Given the description of an element on the screen output the (x, y) to click on. 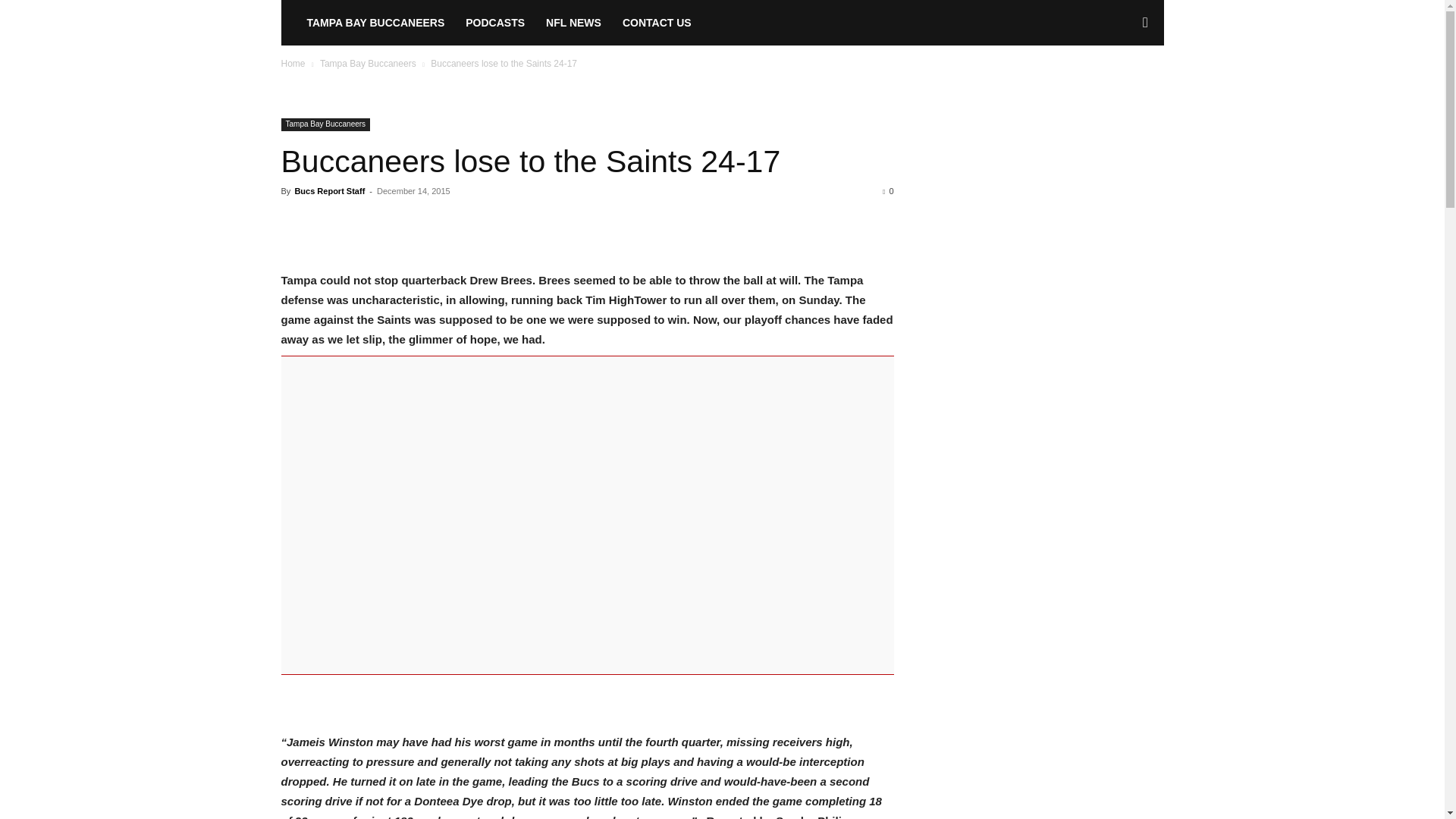
Tampa Bay Buccaneers (325, 124)
Home (292, 63)
NFL NEWS (573, 22)
TAMPA BAY BUCCANEERS (374, 22)
Tampa Bay Buccaneers (368, 63)
PODCASTS (494, 22)
Bucs Report Staff (329, 190)
CONTACT US (656, 22)
Search (1121, 87)
Bucs Report (288, 22)
View all posts in Tampa Bay Buccaneers (368, 63)
0 (887, 190)
